Given the description of an element on the screen output the (x, y) to click on. 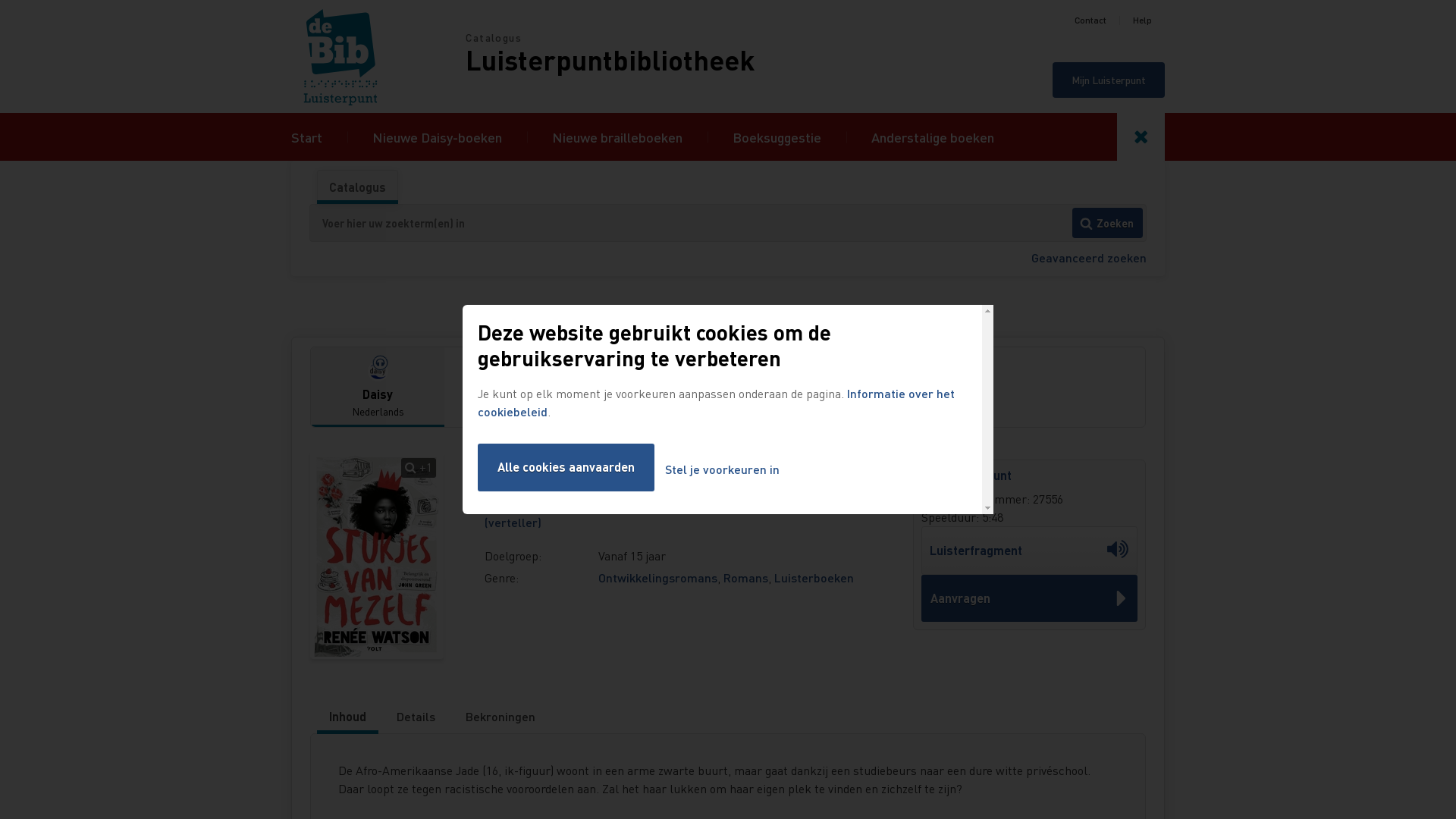
Zoeken Element type: text (1107, 222)
Geavanceerd zoeken Element type: text (1088, 257)
Luisterfragment Element type: text (1029, 550)
Catalogus Element type: text (357, 186)
Home Element type: hover (378, 55)
Ontwikkelingsromans Element type: text (657, 577)
Start Element type: text (306, 136)
Nieuwe Daisy-boeken Element type: text (437, 136)
Romans Element type: text (745, 577)
Toggle search Element type: hover (1140, 136)
Aanvragen Element type: text (1029, 597)
Stel je voorkeuren in Element type: text (722, 469)
Overslaan en naar zoeken gaan Element type: text (0, 0)
Contact Element type: text (1090, 20)
Bekroningen Element type: text (500, 716)
Inhoud Element type: text (347, 716)
Hilde Groeninck (verteller) Element type: text (671, 512)
Informatie over het cookiebeleid Element type: text (715, 402)
Nieuwe brailleboeken Element type: text (617, 136)
Alle cookies aanvaarden Element type: text (565, 466)
Boeksuggestie Element type: text (776, 136)
Karien Gommers (vertaler), Element type: text (694, 503)
Luisterboeken Element type: text (813, 577)
Mijn Luisterpunt Element type: text (1108, 79)
Anderstalige boeken Element type: text (932, 136)
Details Element type: text (415, 716)
Help Element type: text (1141, 20)
